Given the description of an element on the screen output the (x, y) to click on. 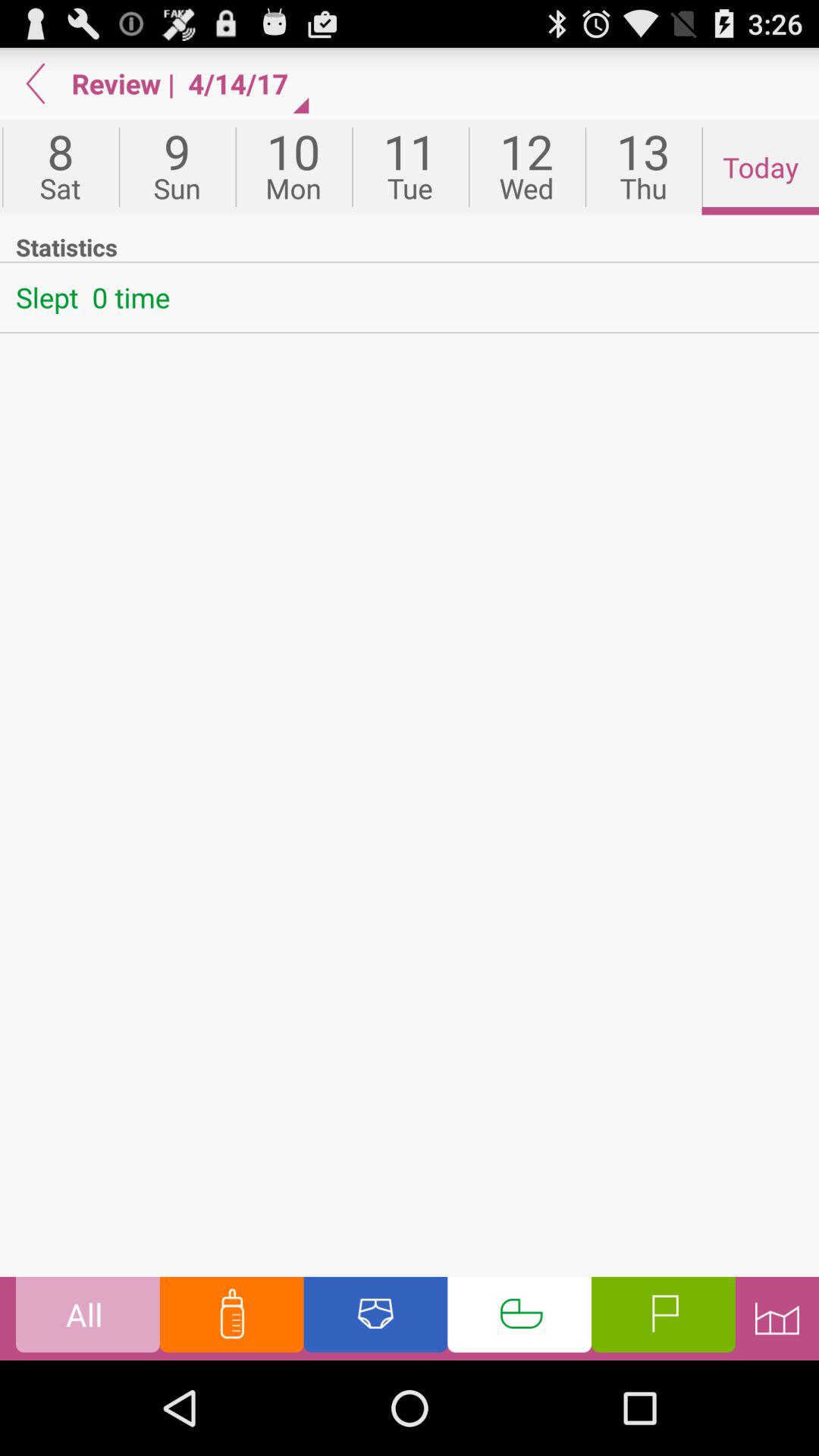
turn on the item below the fri icon (409, 246)
